Given the description of an element on the screen output the (x, y) to click on. 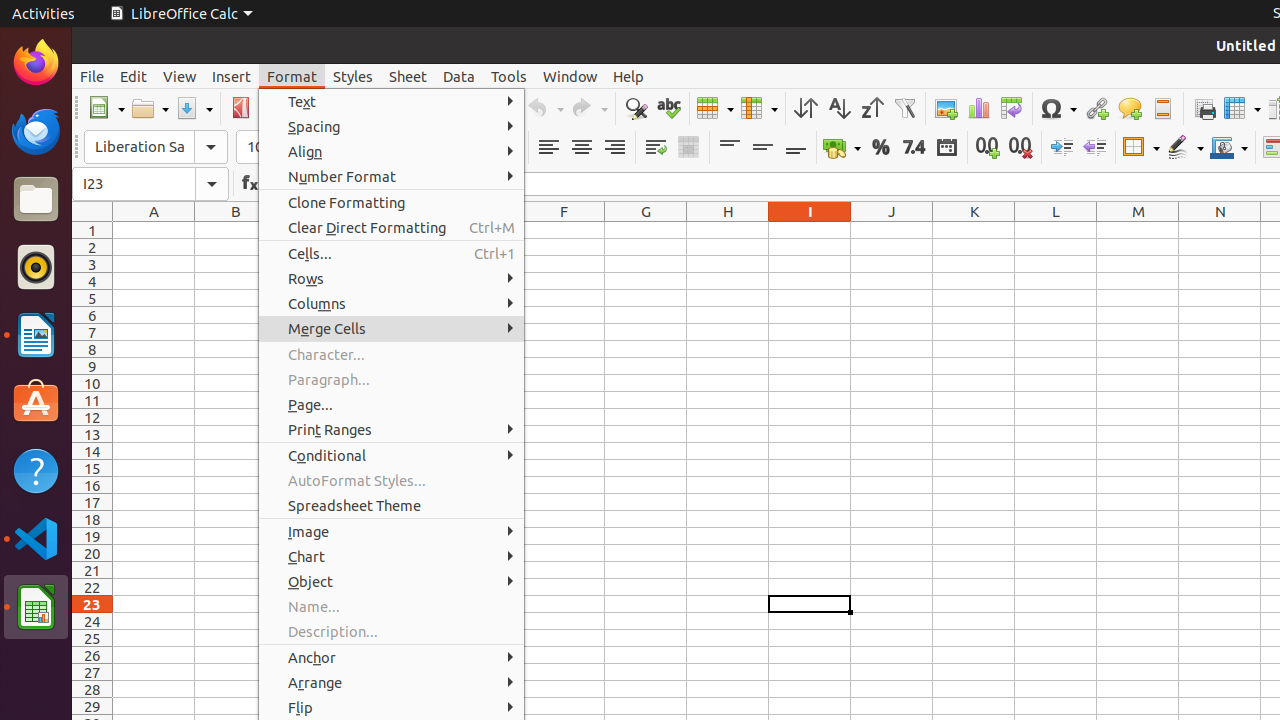
Increase Element type: push-button (1061, 147)
Sort Descending Element type: push-button (871, 108)
Chart Element type: menu (391, 556)
Hyperlink Element type: toggle-button (1096, 108)
